Given the description of an element on the screen output the (x, y) to click on. 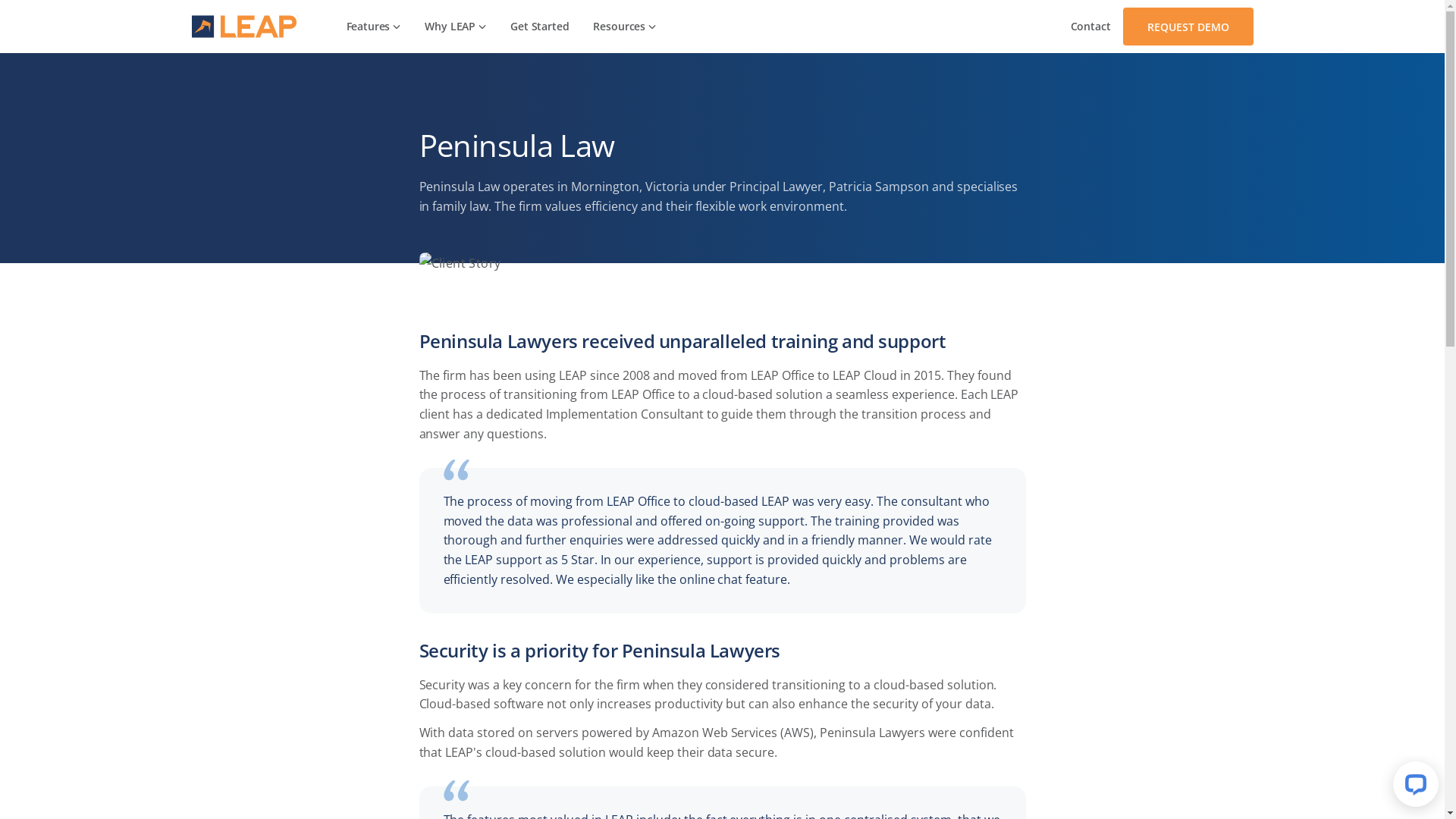
REQUEST DEMO Element type: text (1187, 26)
Get Started Element type: text (539, 26)
Contact Element type: text (1090, 26)
